Given the description of an element on the screen output the (x, y) to click on. 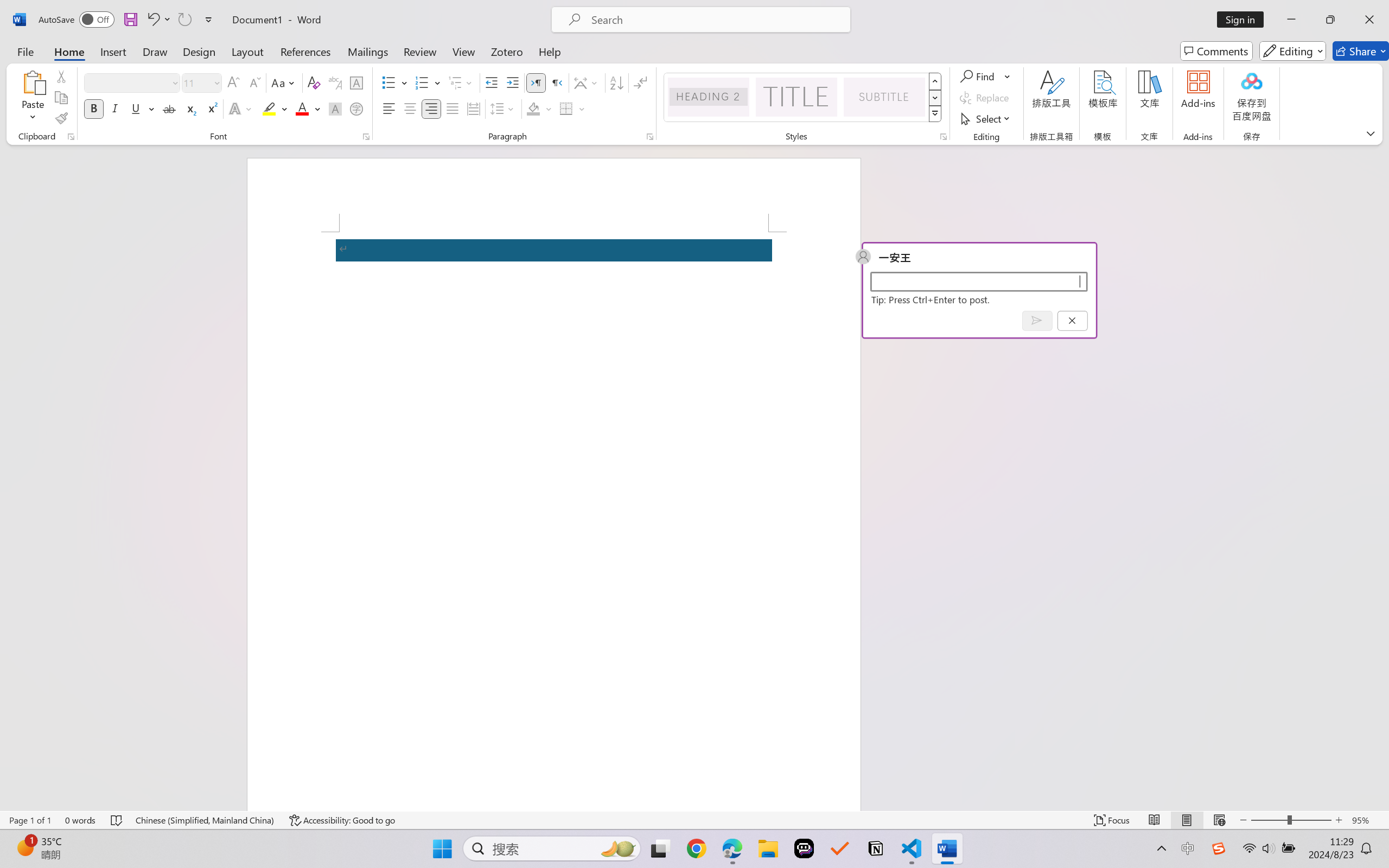
Start a conversation (978, 281)
